Given the description of an element on the screen output the (x, y) to click on. 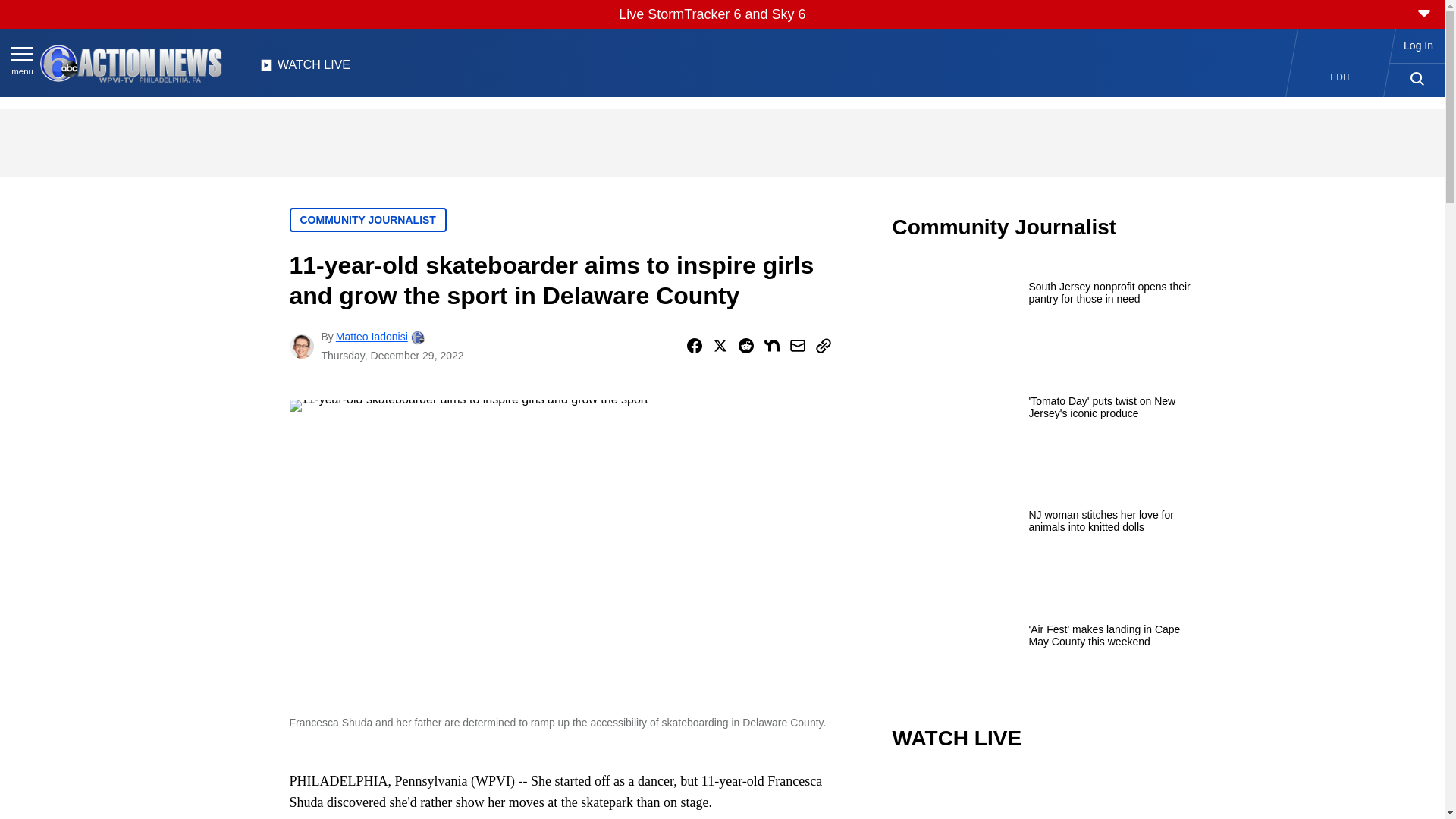
video.title (1043, 796)
WATCH LIVE (305, 69)
EDIT (1340, 77)
